Given the description of an element on the screen output the (x, y) to click on. 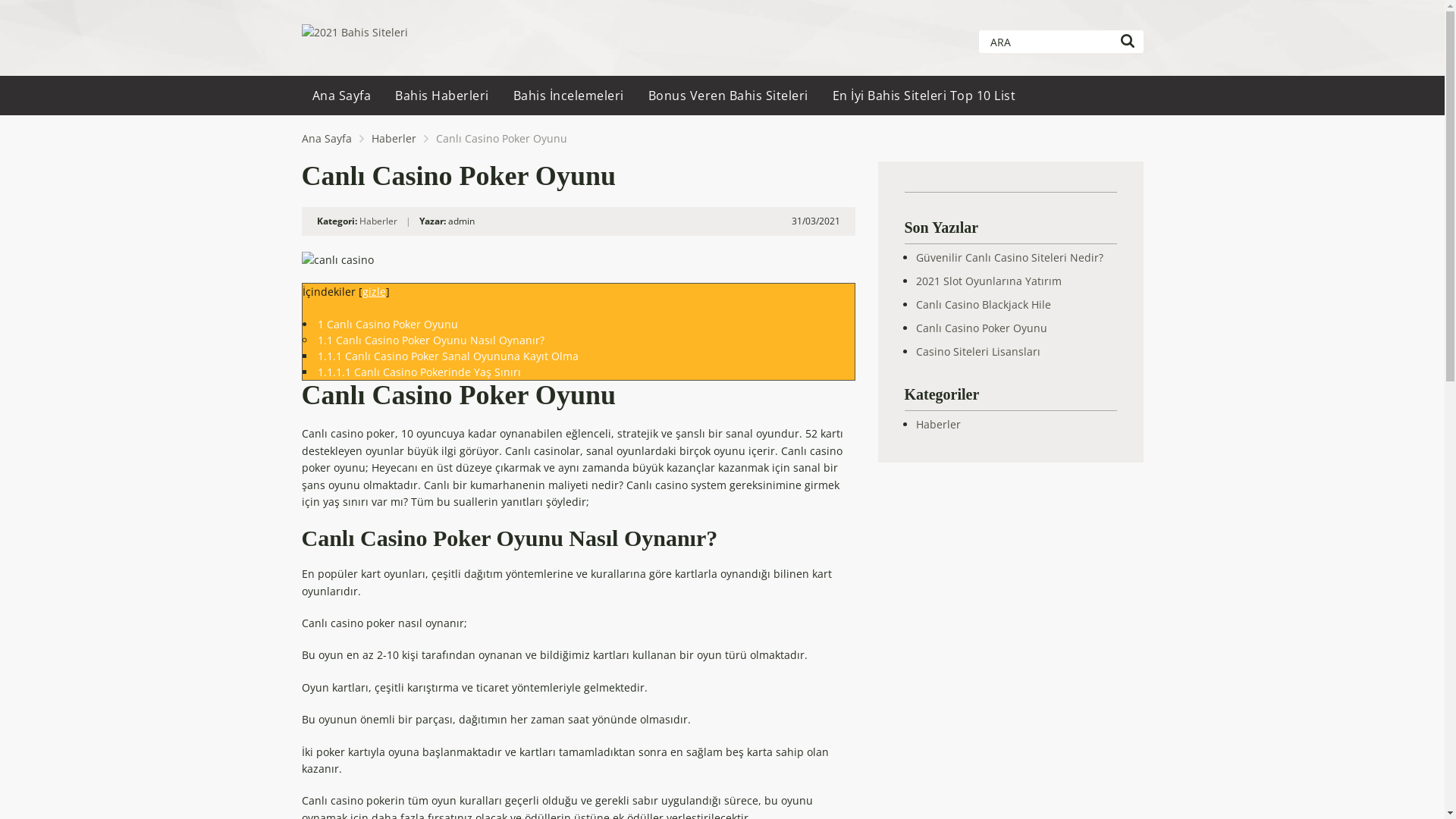
Ana Sayfa Element type: text (326, 138)
Bahis Haberleri Element type: text (442, 95)
Haberler Element type: text (393, 138)
Haberler Element type: text (378, 220)
Bonus Veren Bahis Siteleri Element type: text (727, 95)
Ana Sayfa Element type: text (341, 95)
gizle Element type: text (373, 291)
Haberler Element type: text (938, 424)
